Given the description of an element on the screen output the (x, y) to click on. 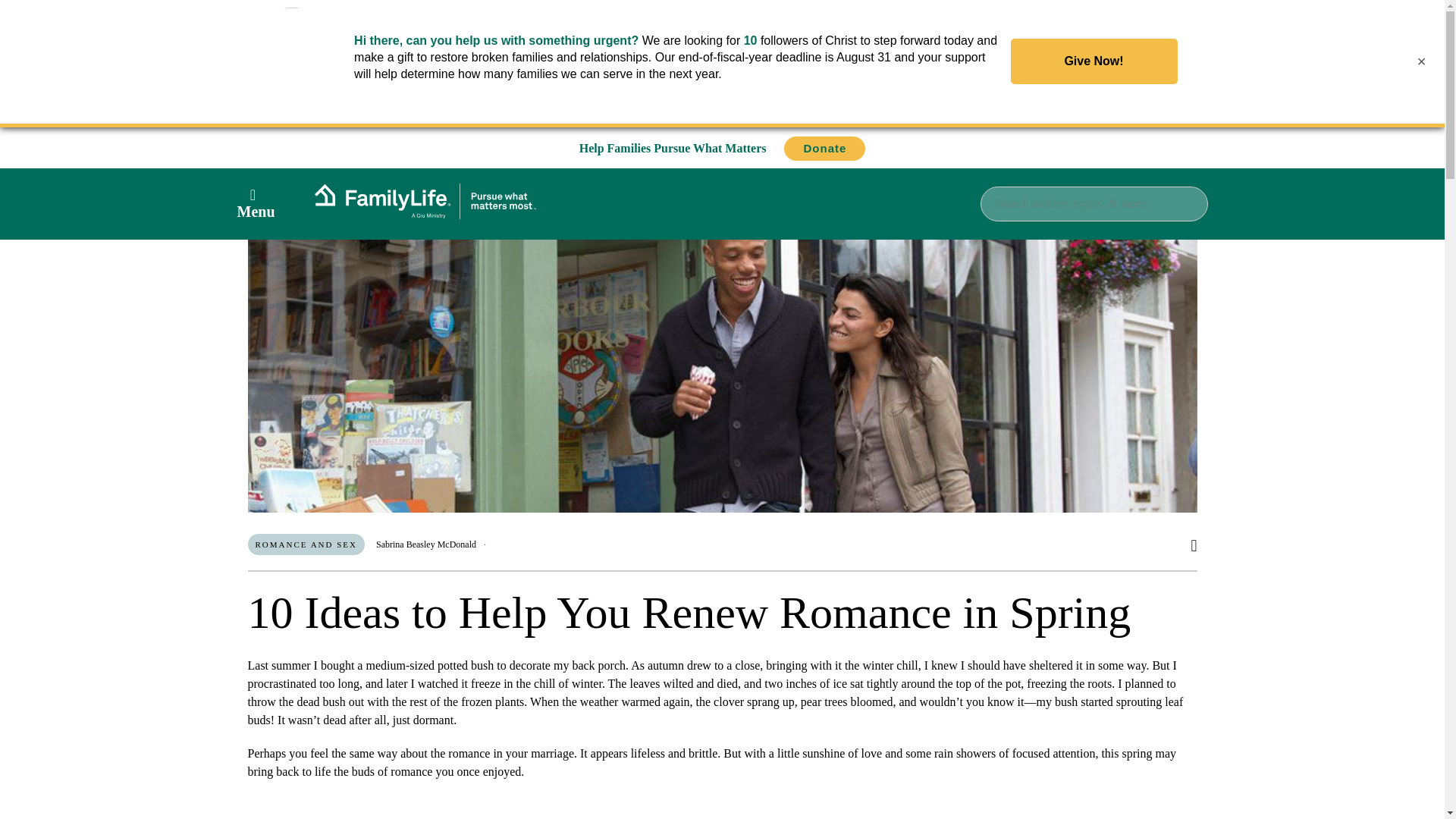
Donate (824, 148)
ROMANCE AND SEX (306, 544)
Help Families Pursue What Matters Donate (722, 147)
Go Back to All Romance and Sex Resources (395, 169)
Give Now! (1093, 61)
Search for: (1093, 203)
